Given the description of an element on the screen output the (x, y) to click on. 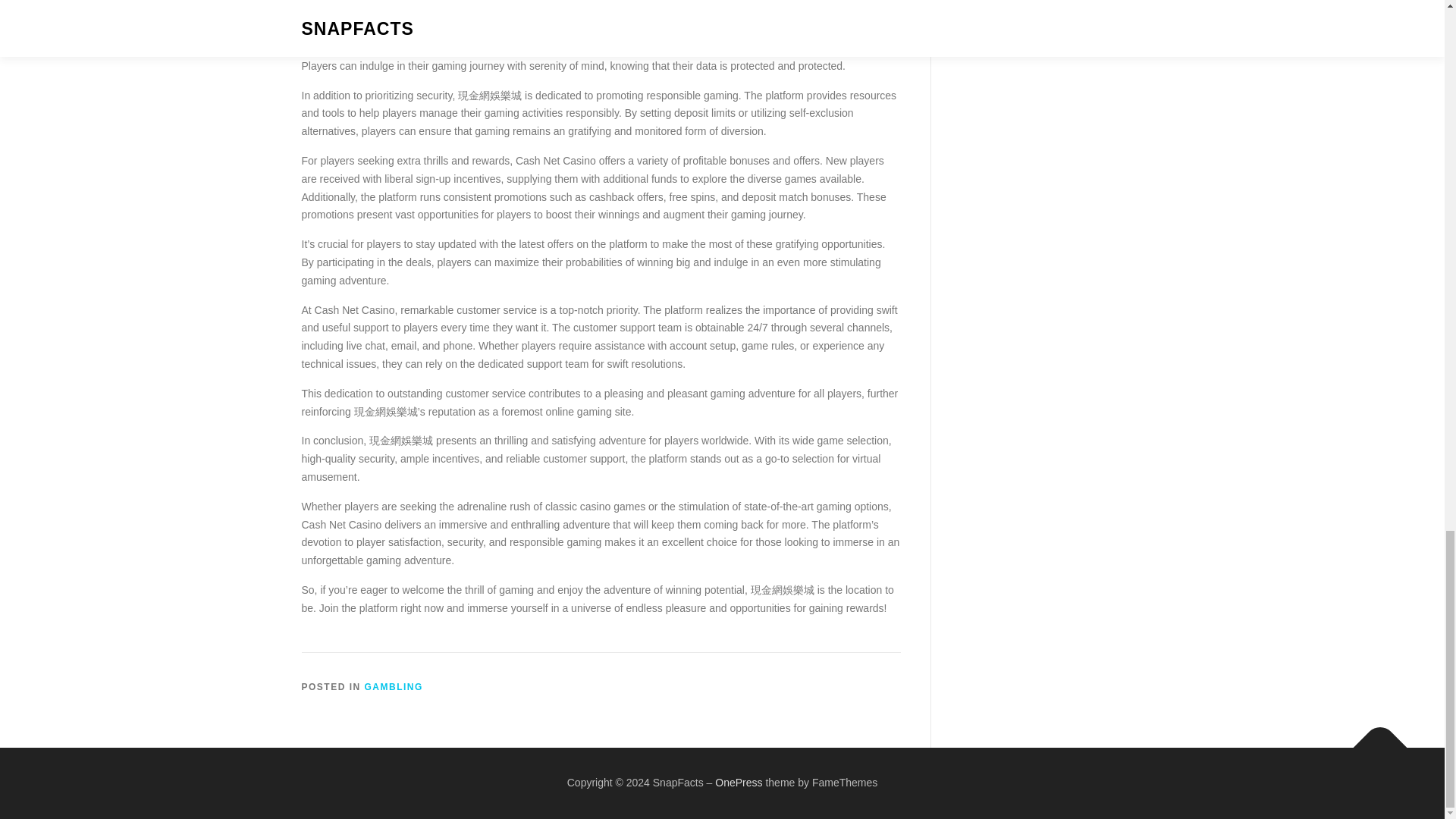
Back To Top (1372, 740)
GAMBLING (394, 685)
